Given the description of an element on the screen output the (x, y) to click on. 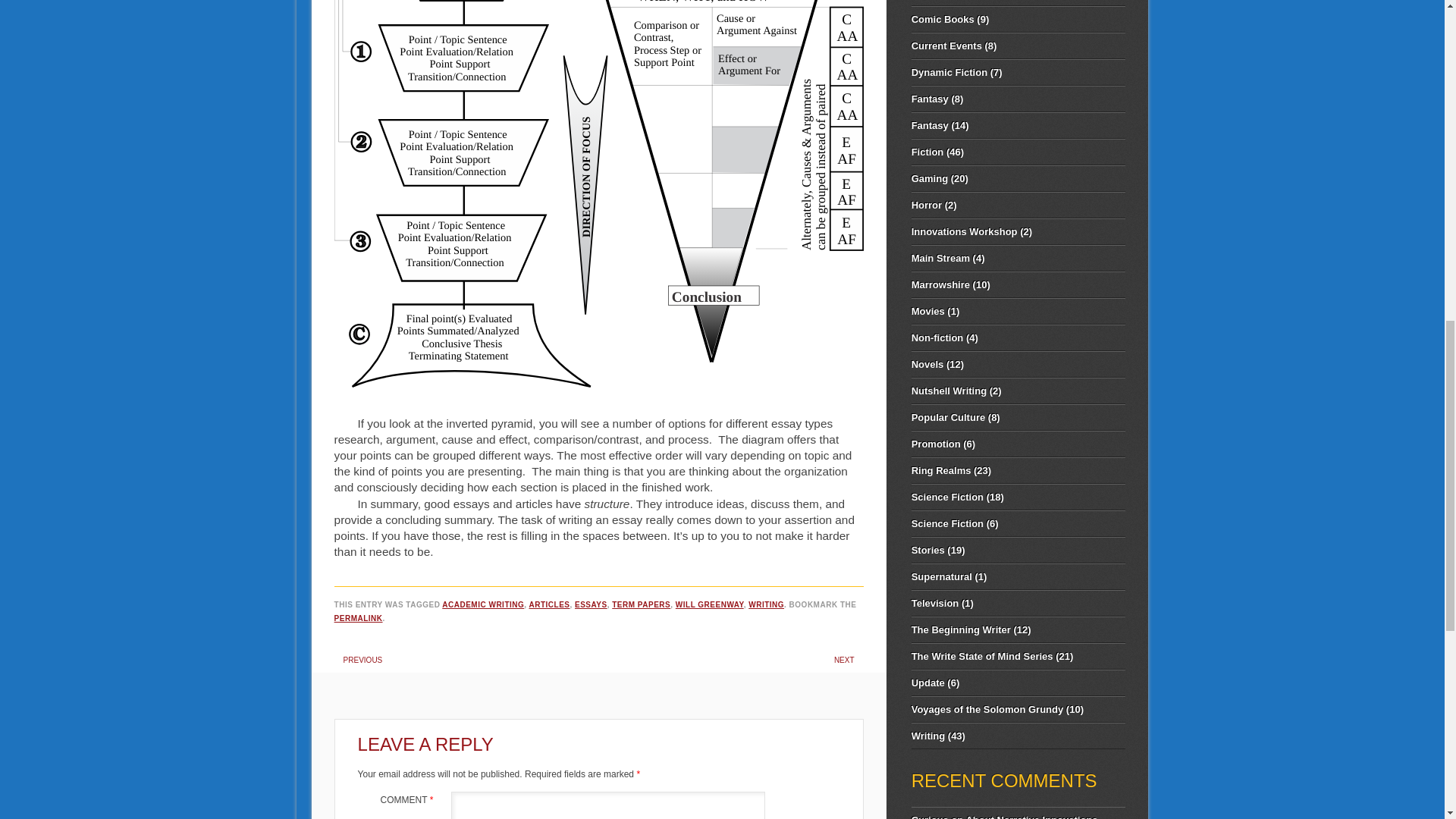
WILL GREENWAY (709, 604)
NEXT (844, 660)
ESSAYS (591, 604)
ARTICLES (548, 604)
WRITING (766, 604)
TERM PAPERS (640, 604)
PREVIOUS (362, 660)
PERMALINK (358, 618)
ACADEMIC WRITING (483, 604)
